Given the description of an element on the screen output the (x, y) to click on. 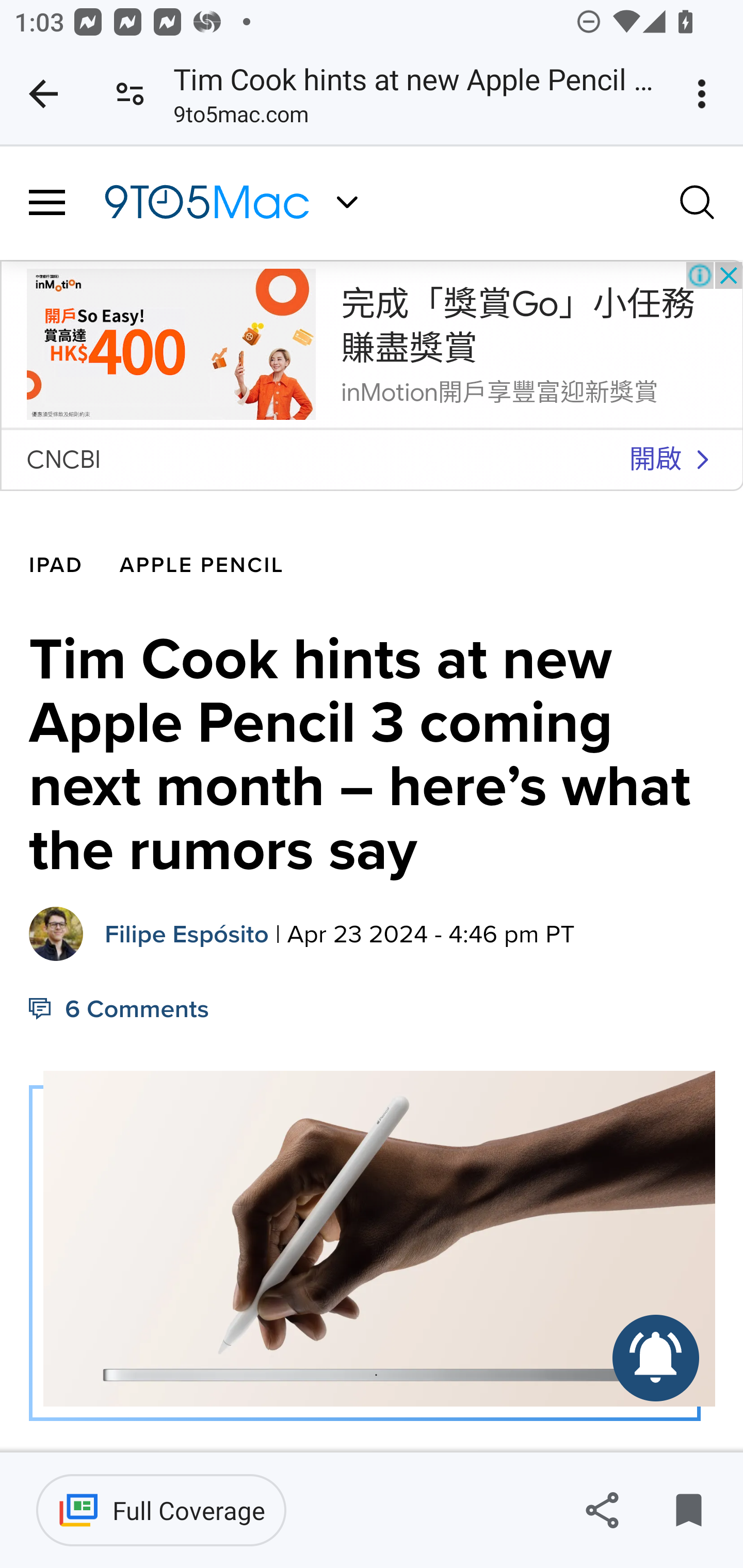
Close tab (43, 93)
Customize and control Google Chrome (705, 93)
Connection is secure (129, 93)
9to5mac.com (240, 117)
Toggle main menu (46, 203)
Toggle search form (697, 201)
Switch site (346, 202)
Full Coverage (161, 1509)
Share (601, 1510)
Remove from saved stories (688, 1510)
